Given the description of an element on the screen output the (x, y) to click on. 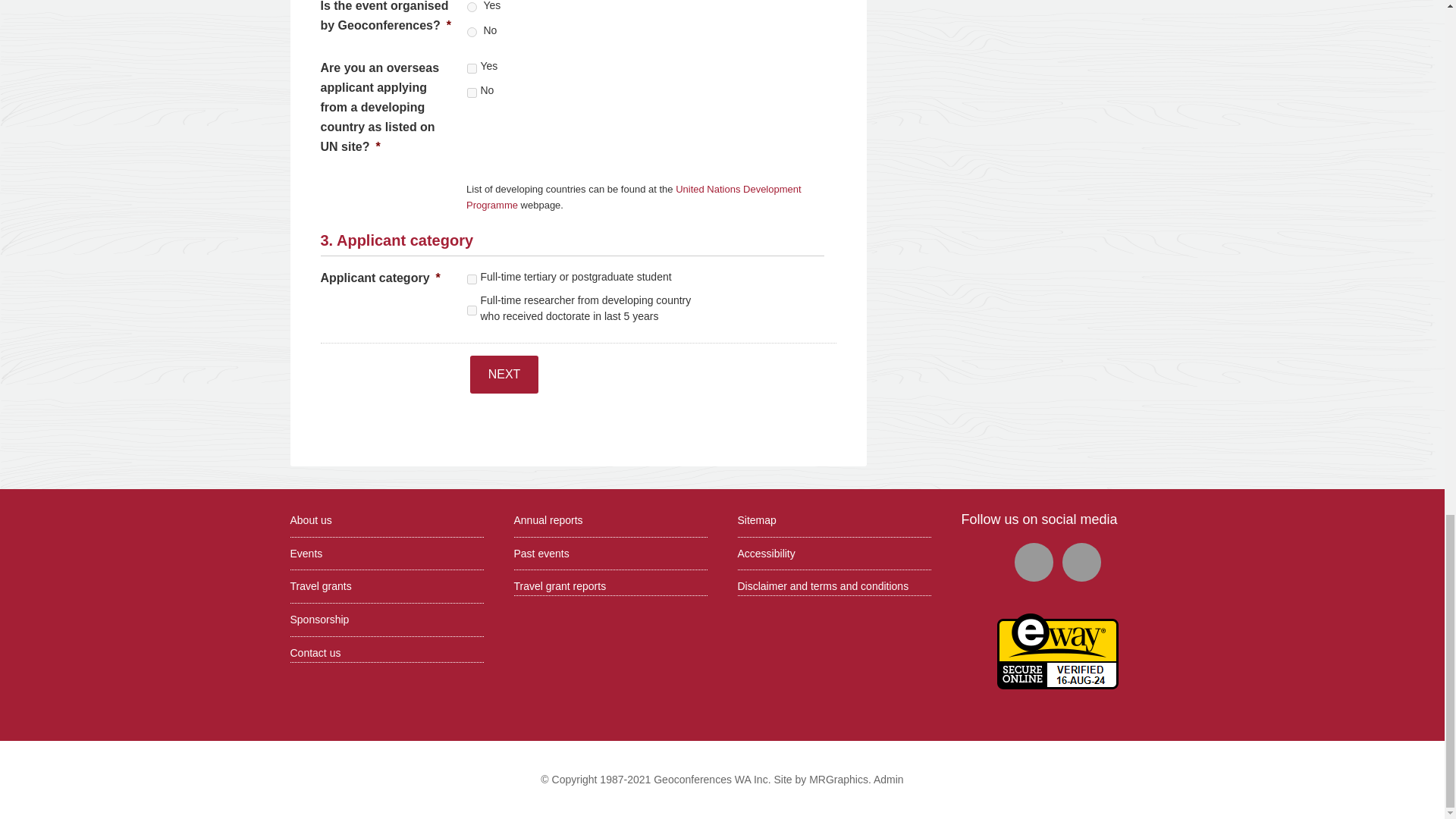
Past events (541, 553)
About us (310, 520)
Sponsorship (319, 619)
Accessibility (765, 553)
Disclaimer and terms and conditions (822, 585)
United Nations Development Programme (633, 196)
Annual reports (548, 520)
Travel grants (319, 585)
eWAY Payment Gateway (1057, 685)
Events (305, 553)
